Given the description of an element on the screen output the (x, y) to click on. 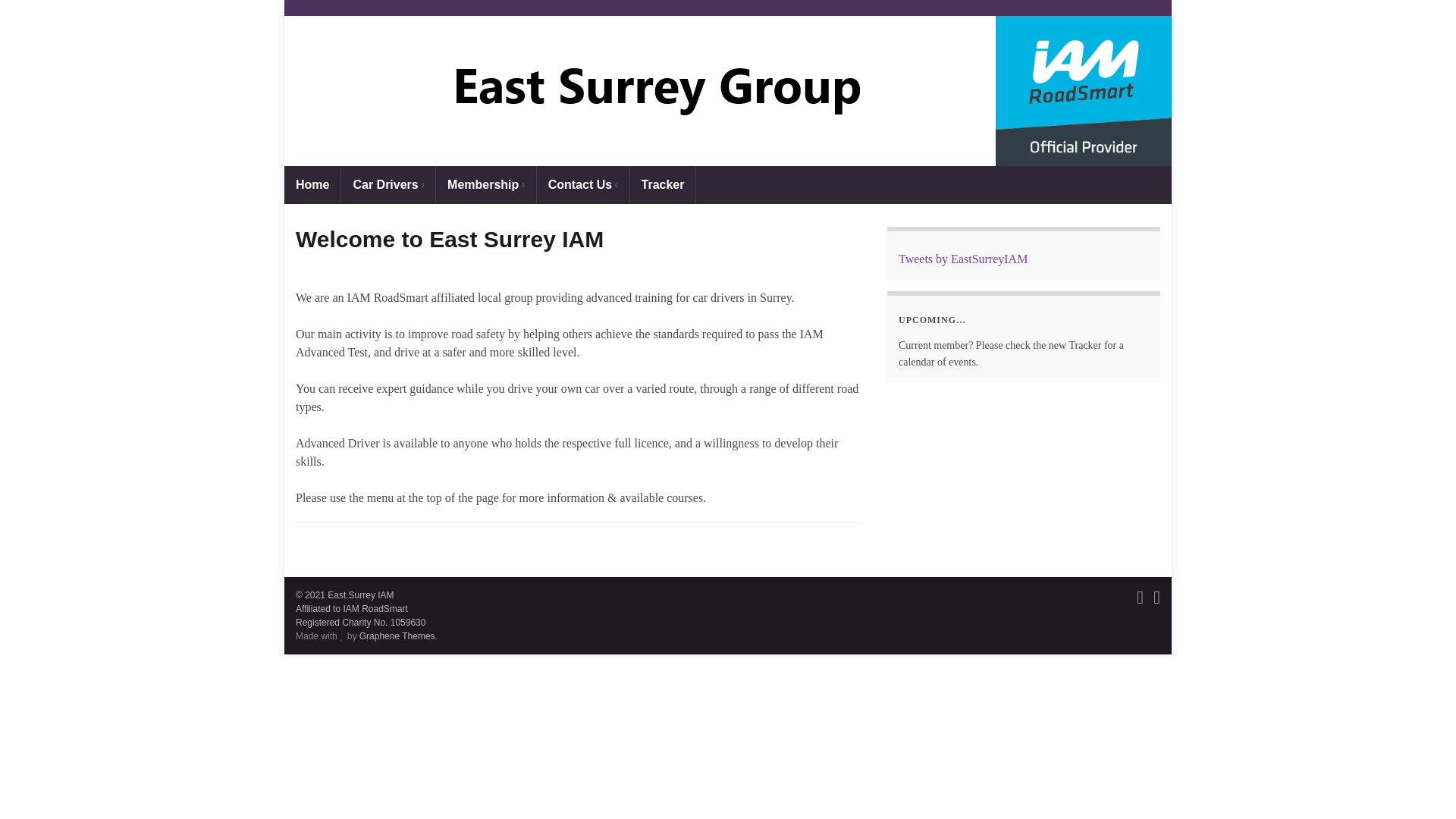
Contact Us (582, 184)
Tracker (662, 184)
Membership (485, 184)
Home (311, 184)
Website-Title (727, 90)
Graphene Themes (397, 635)
Car Drivers (387, 184)
Tweets by EastSurreyIAM (962, 258)
